Given the description of an element on the screen output the (x, y) to click on. 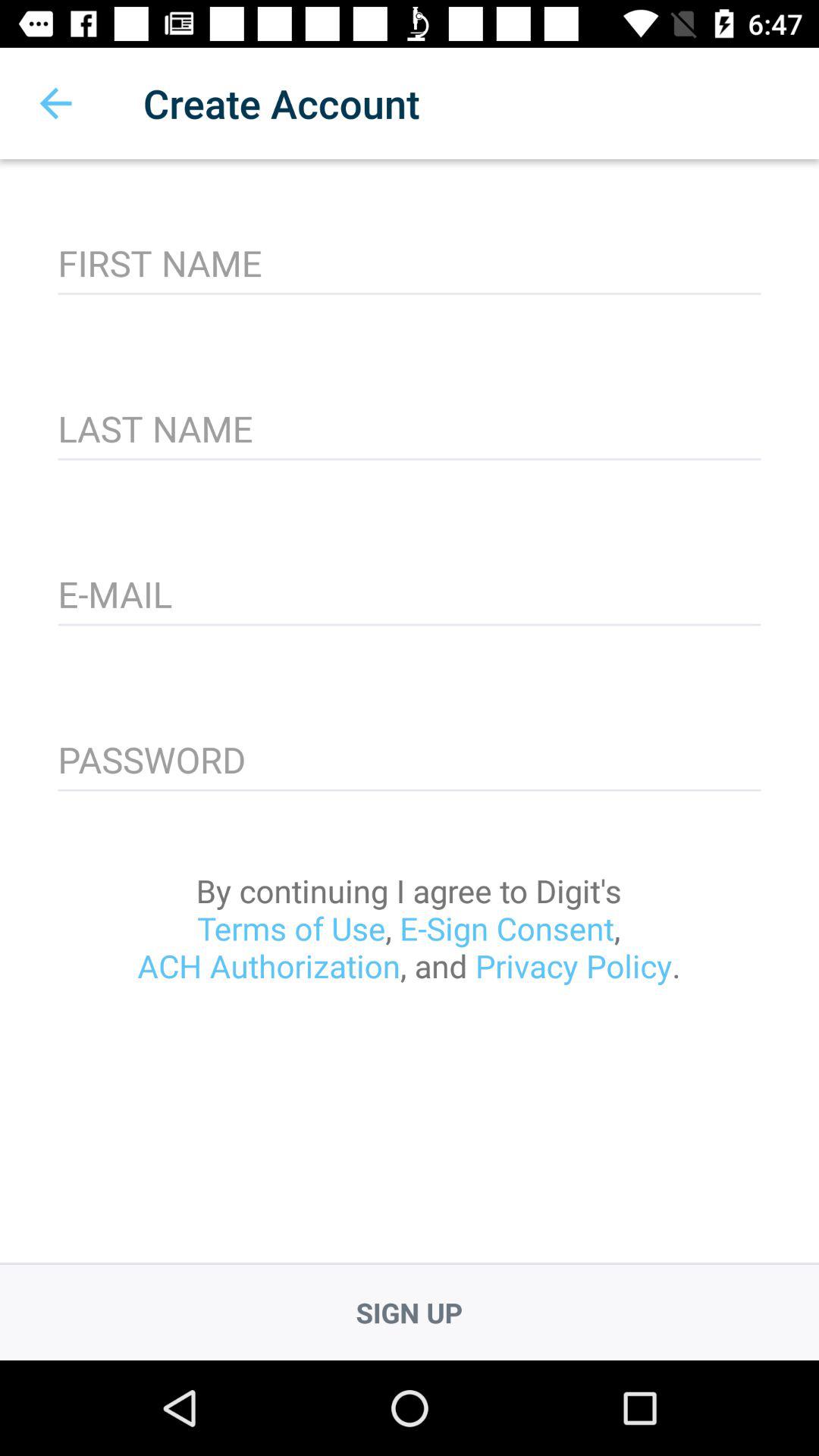
choose sign up icon (409, 1312)
